Given the description of an element on the screen output the (x, y) to click on. 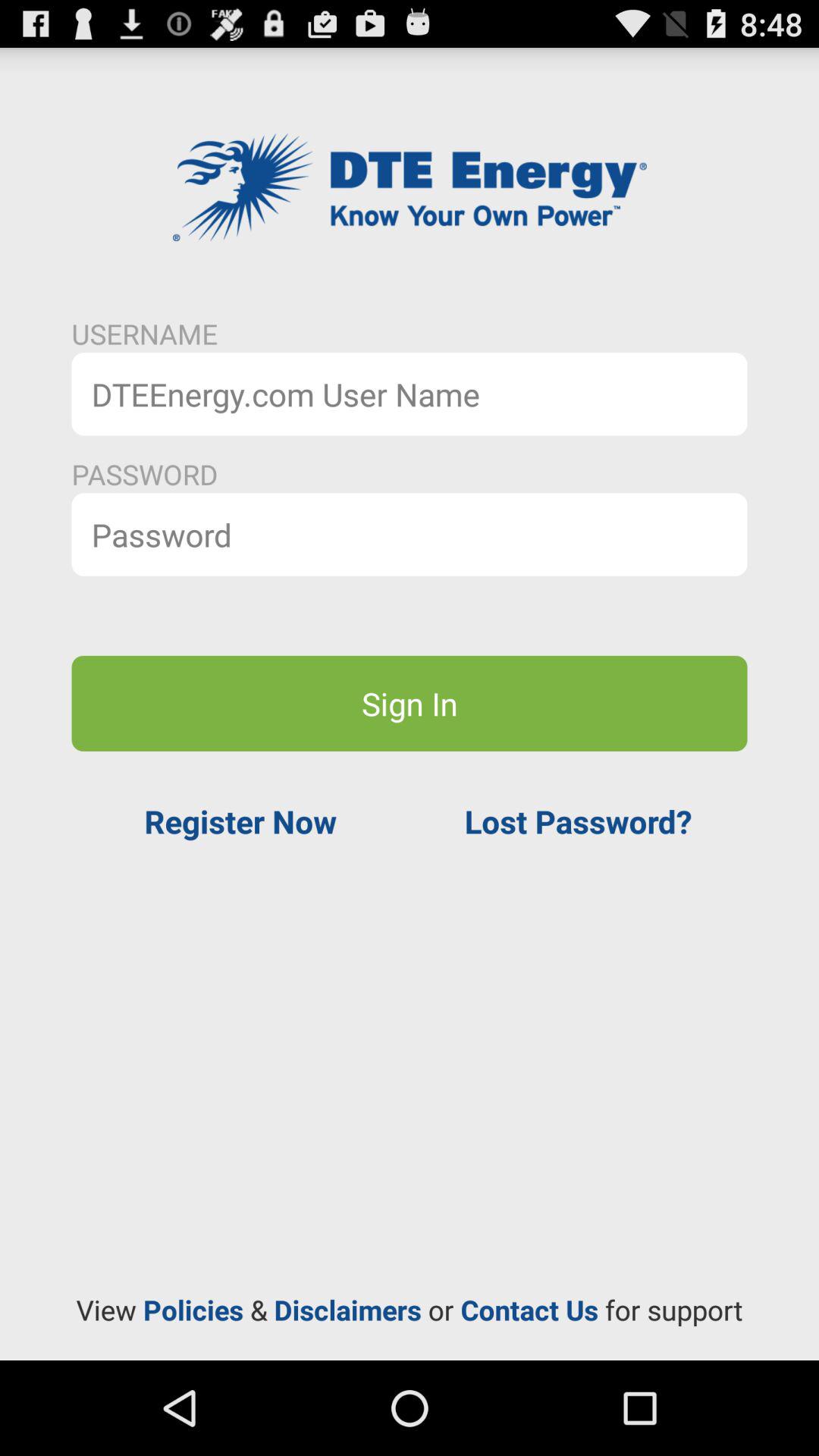
select item below the sign in button (578, 820)
